Given the description of an element on the screen output the (x, y) to click on. 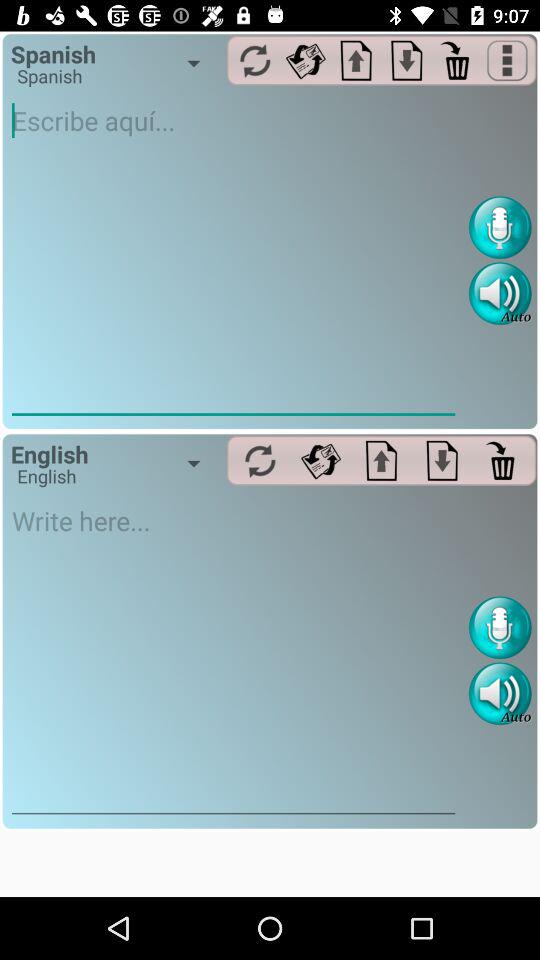
go to download option (442, 460)
